Given the description of an element on the screen output the (x, y) to click on. 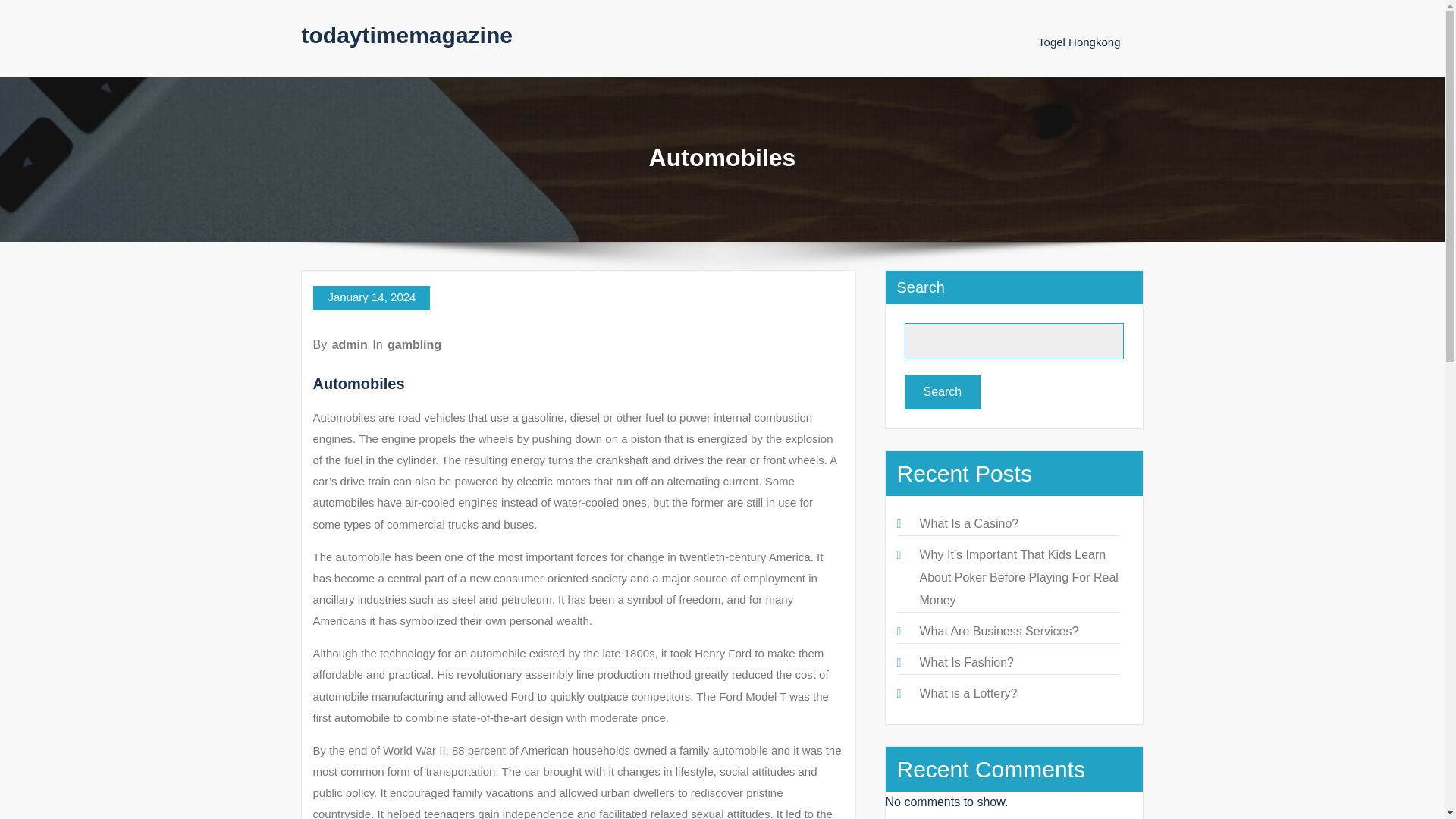
What Is Fashion? (965, 662)
gambling (413, 344)
January 14, 2024 (371, 297)
todaytimemagazine (406, 34)
Search (941, 391)
admin (349, 344)
What Is a Casino? (967, 522)
What is a Lottery? (967, 693)
Togel Hongkong (1078, 41)
What Are Business Services? (998, 631)
